Given the description of an element on the screen output the (x, y) to click on. 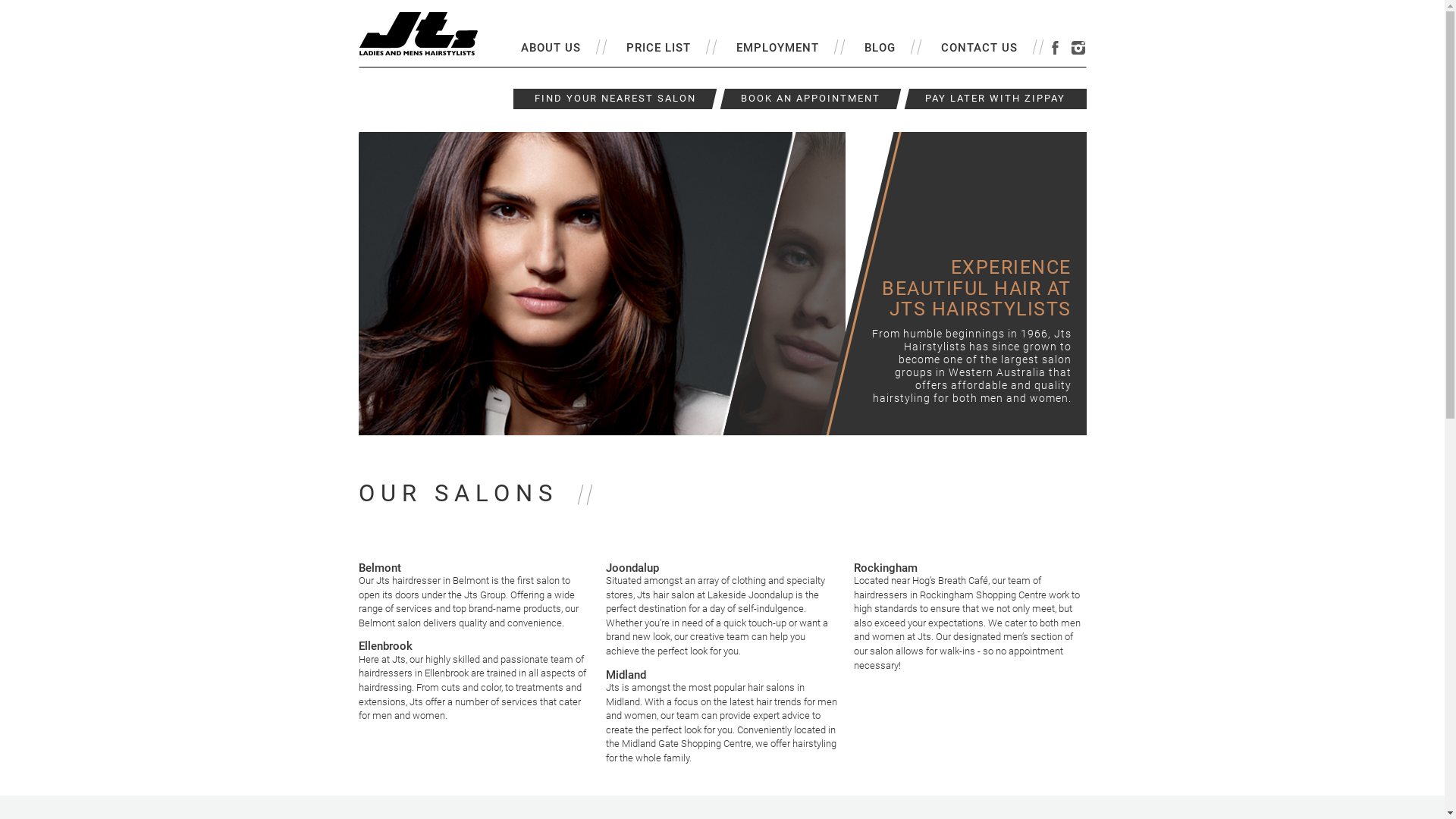
PAY LATER WITH ZIPPAY Element type: text (994, 98)
BOOK AN APPOINTMENT Element type: text (809, 98)
FACEBOOK Element type: text (1055, 47)
BLOG Element type: text (879, 47)
EMPLOYMENT Element type: text (777, 47)
PRICE LIST Element type: text (657, 47)
INSTAGRAM Element type: text (1077, 47)
ABOUT US Element type: text (550, 47)
FIND YOUR NEAREST SALON Element type: text (614, 98)
CONTACT US Element type: text (979, 47)
